Given the description of an element on the screen output the (x, y) to click on. 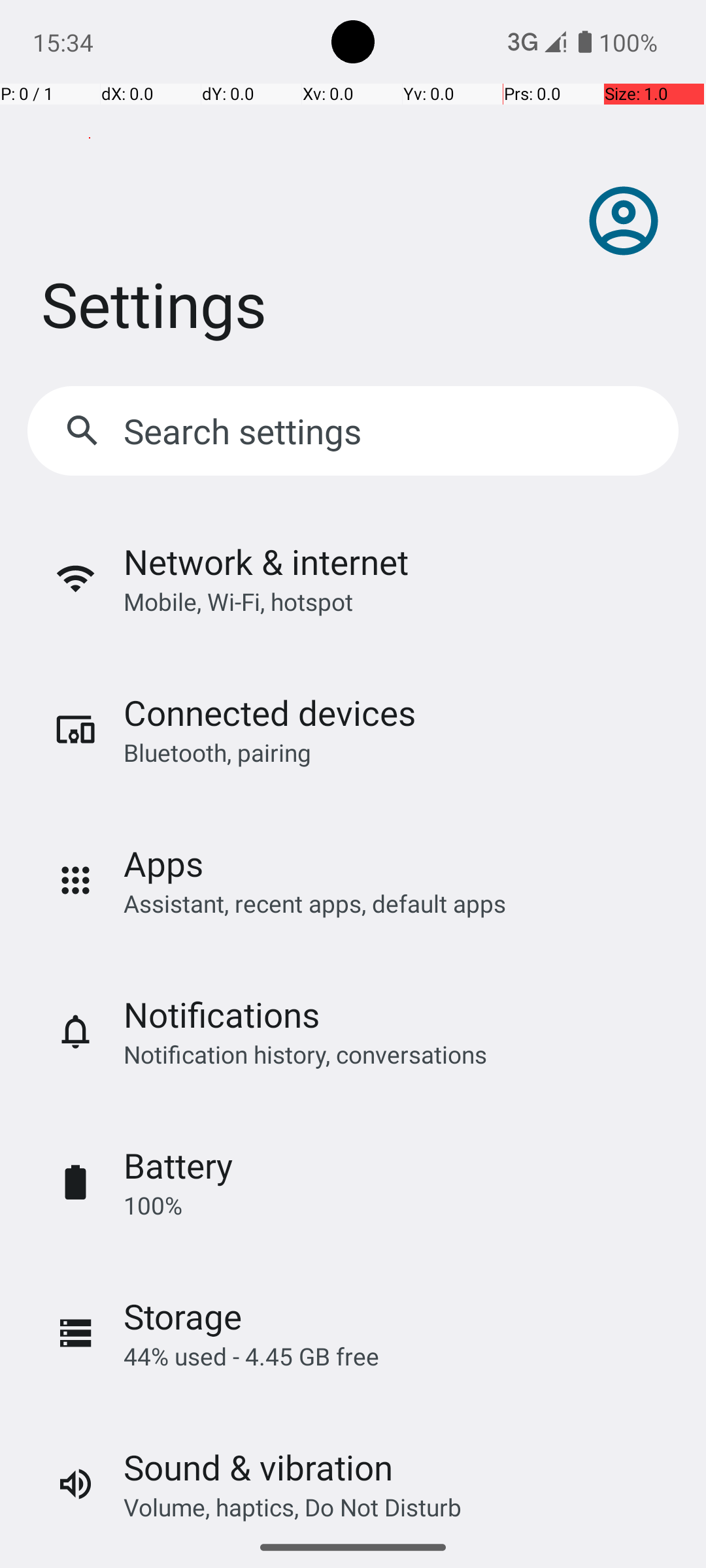
44% used - 4.45 GB free Element type: android.widget.TextView (251, 1355)
